Given the description of an element on the screen output the (x, y) to click on. 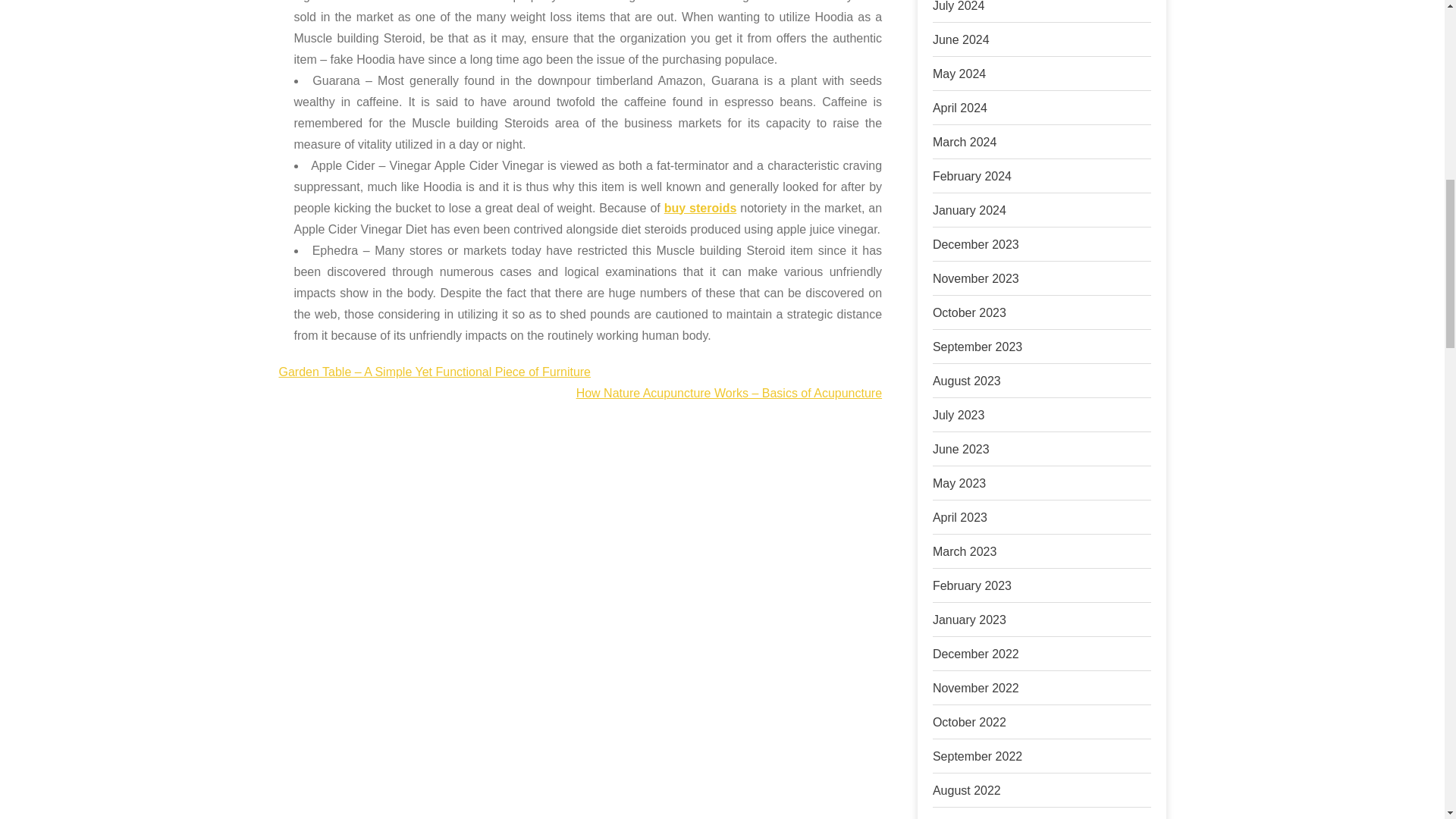
May 2024 (959, 73)
September 2022 (977, 756)
January 2023 (969, 619)
November 2023 (976, 278)
October 2023 (969, 312)
June 2023 (961, 449)
March 2023 (965, 551)
February 2023 (972, 585)
January 2024 (969, 210)
December 2023 (976, 244)
March 2024 (965, 141)
July 2023 (959, 414)
June 2024 (961, 39)
August 2022 (967, 789)
July 2024 (959, 6)
